Given the description of an element on the screen output the (x, y) to click on. 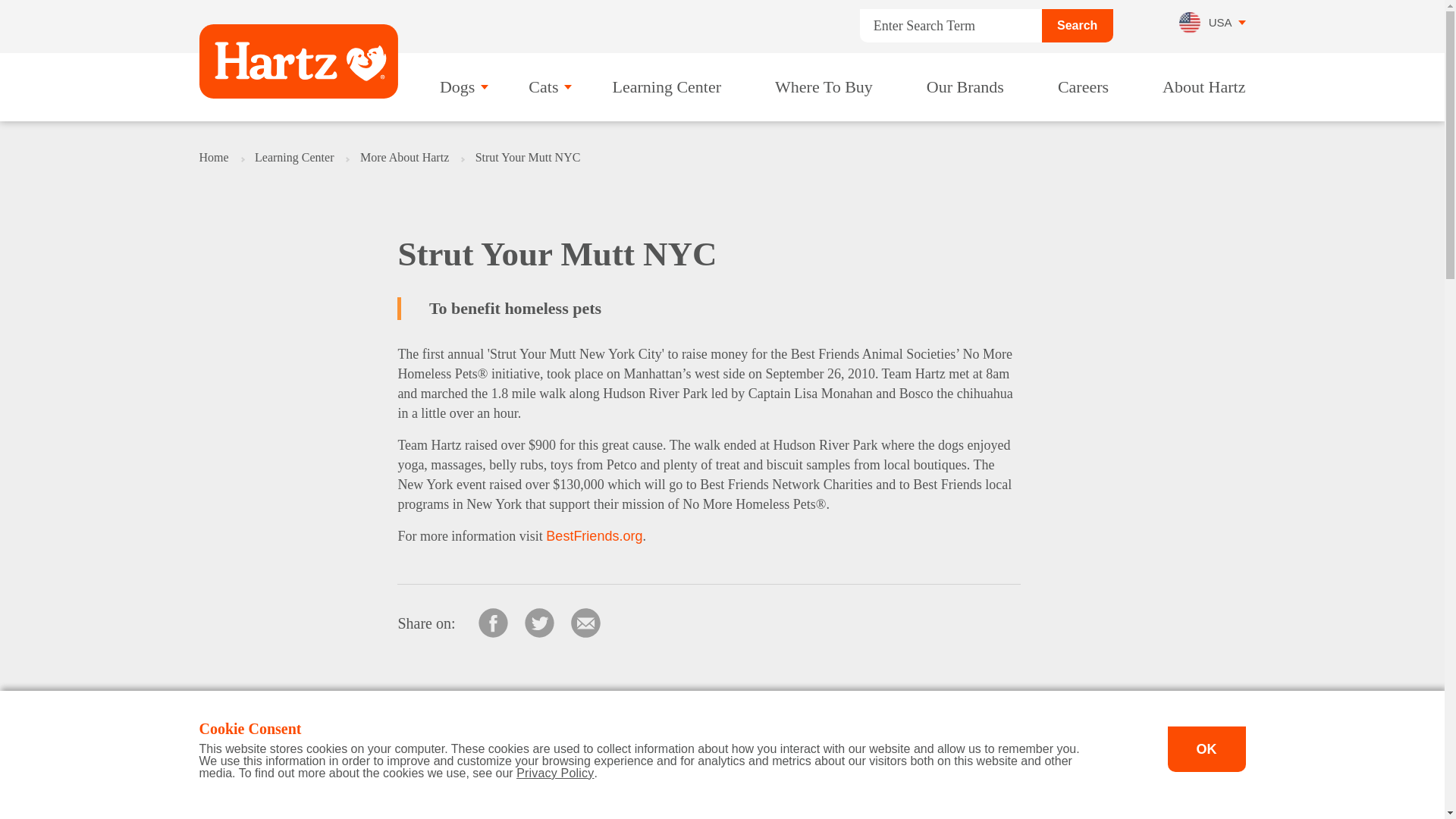
USA (1211, 26)
Learning Center (673, 87)
Dogs (463, 87)
Careers (1090, 87)
Our Brands (971, 87)
Share on Twitter (539, 622)
Search (1077, 25)
About Hartz (1202, 87)
Share on Facebook (492, 622)
Dogs (463, 87)
Cats (550, 87)
Where To Buy (830, 87)
Cats (550, 87)
